Given the description of an element on the screen output the (x, y) to click on. 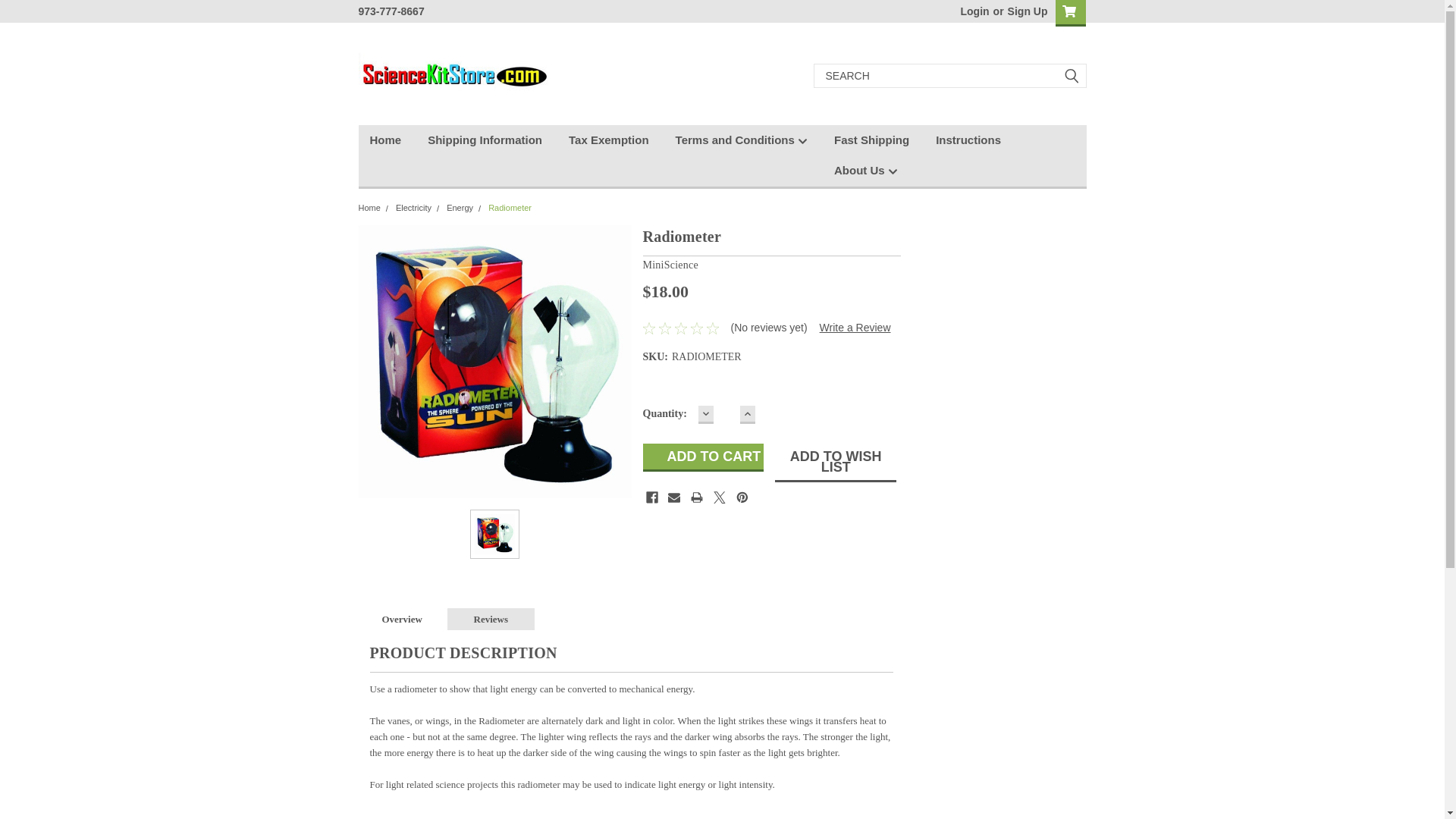
Facebook (652, 497)
Login (973, 11)
Print (696, 497)
Radiometer (494, 534)
1 (726, 414)
Pinterest (742, 497)
Add to Cart (703, 457)
submit (1070, 75)
Sign Up (1026, 11)
Radiometer (494, 360)
Twitter (719, 497)
ScienceKitStore.com (452, 75)
Email (673, 497)
